Given the description of an element on the screen output the (x, y) to click on. 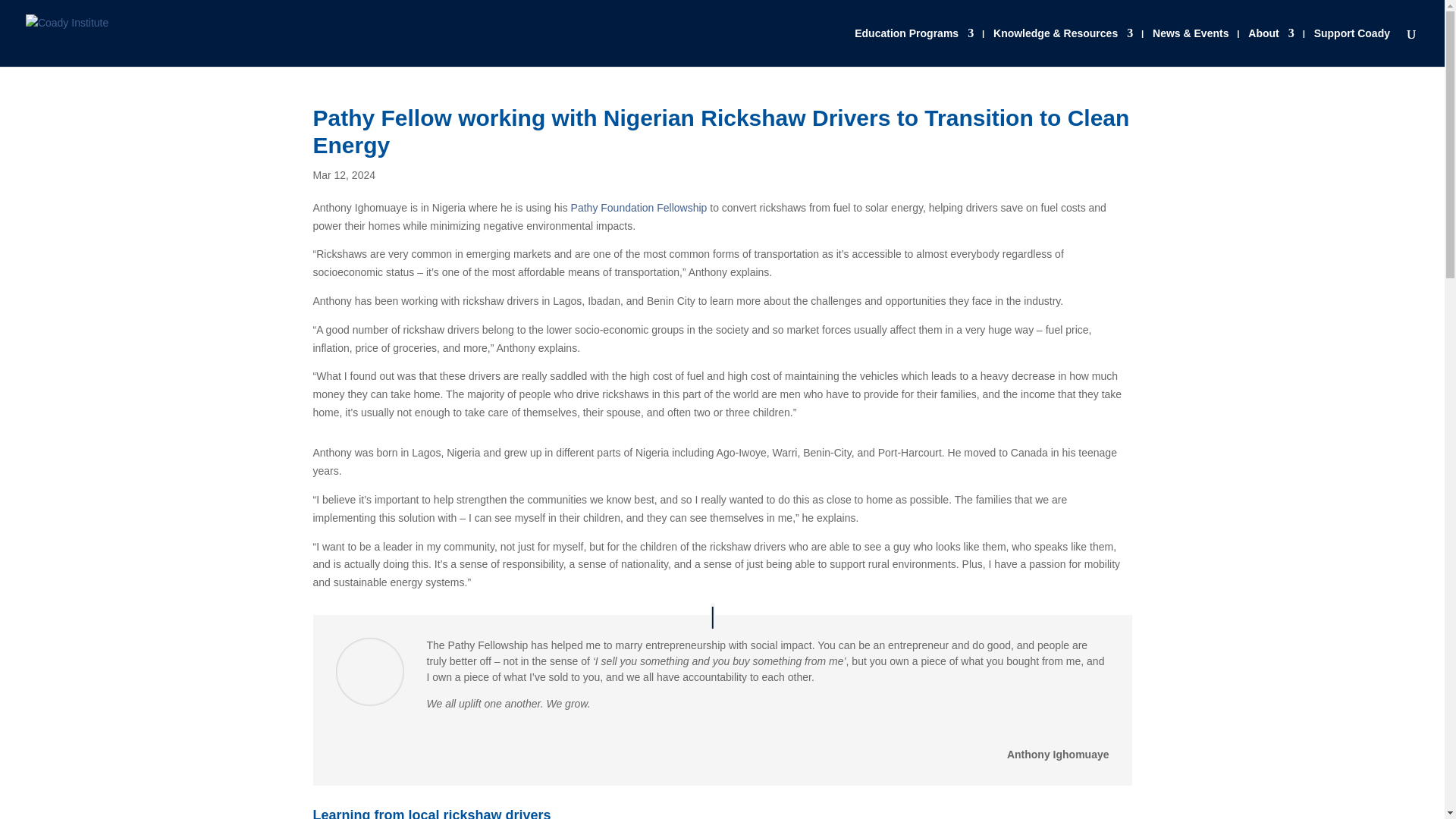
About (1270, 46)
Education Programs (914, 46)
Support Coady (1352, 46)
Pathy Foundation Fellowship (638, 207)
